Given the description of an element on the screen output the (x, y) to click on. 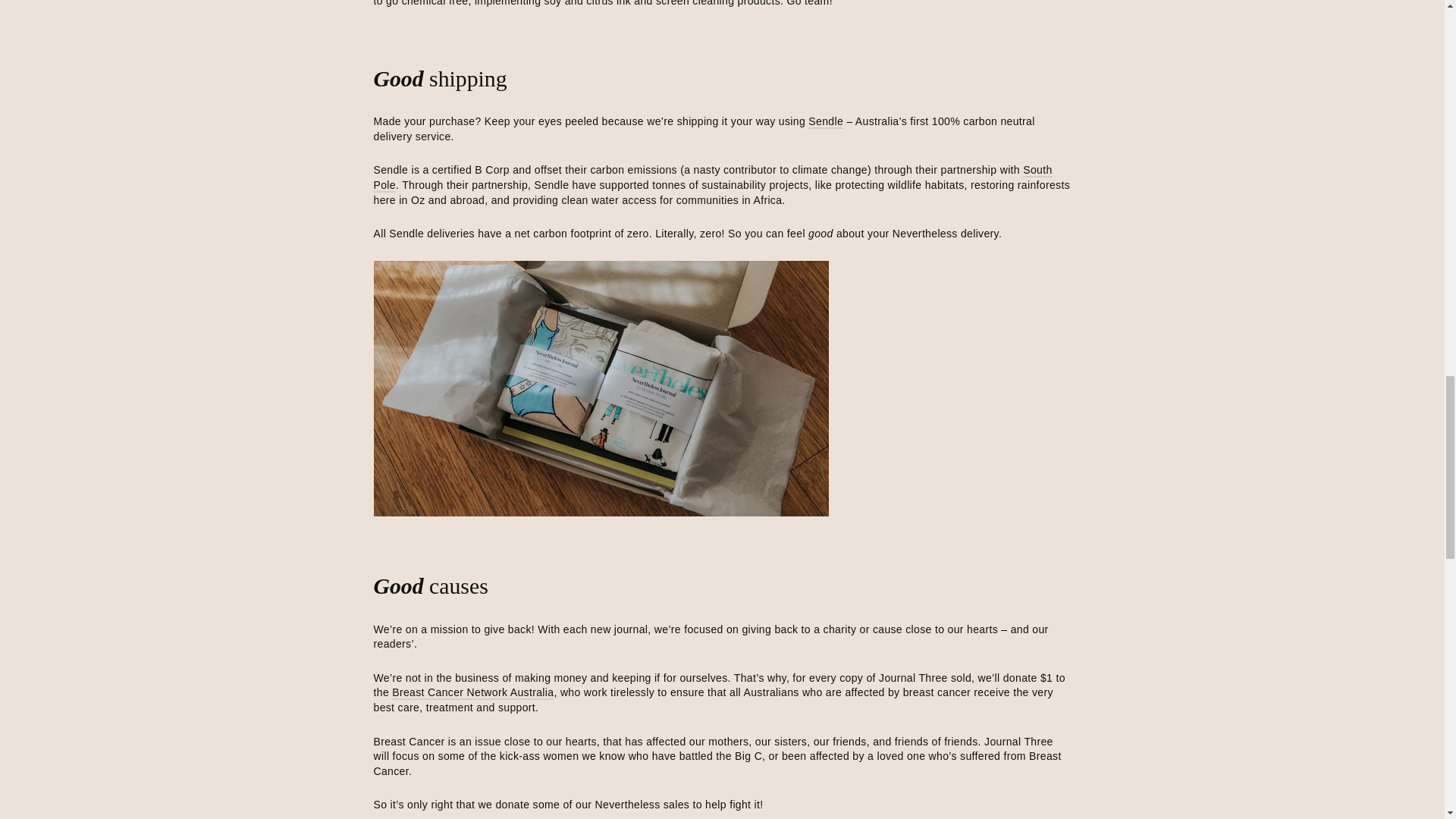
Sendle (825, 121)
South Pole (711, 177)
Breast Cancer Network Australia (472, 693)
